Given the description of an element on the screen output the (x, y) to click on. 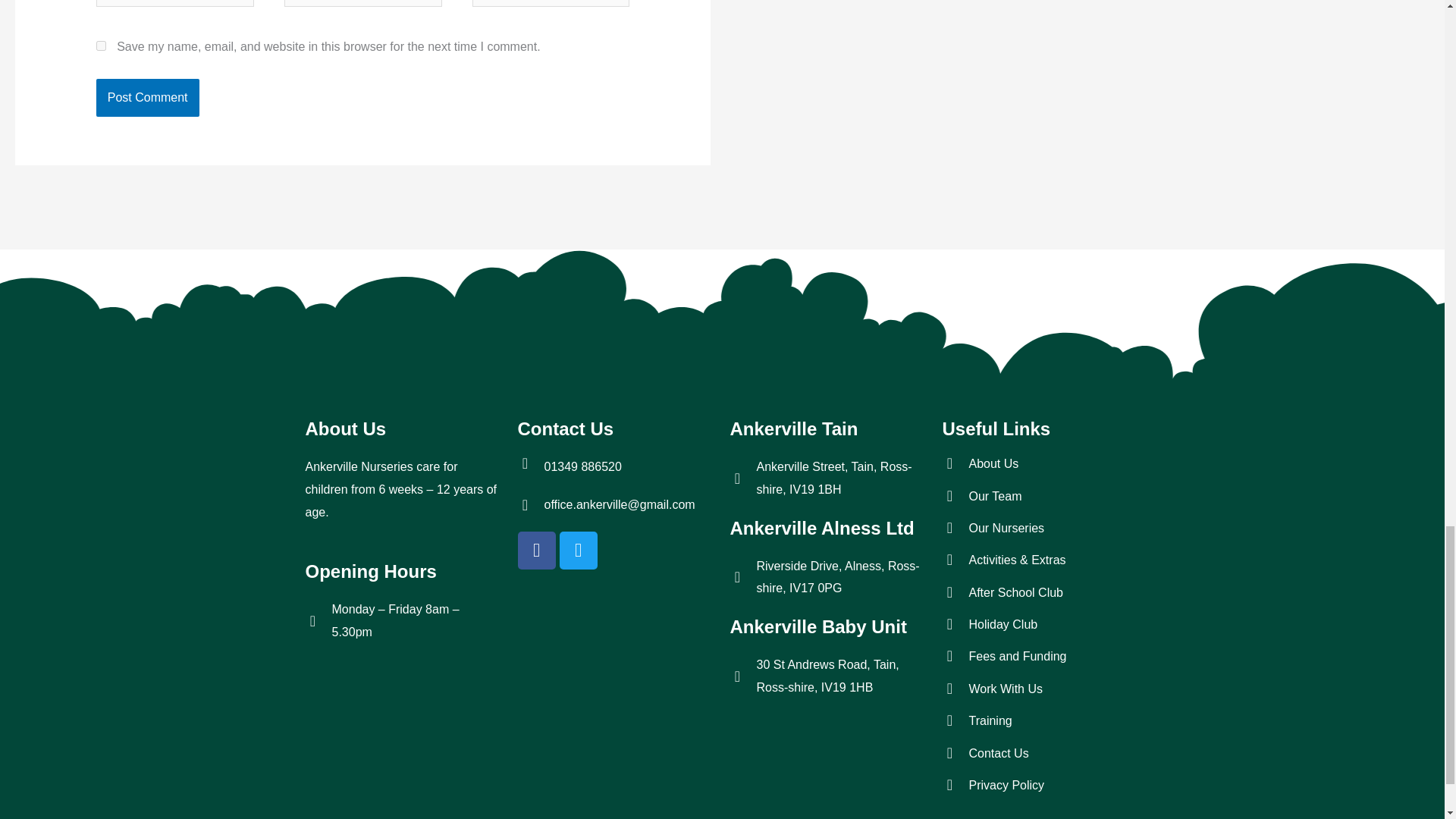
Post Comment (147, 97)
yes (101, 45)
